Given the description of an element on the screen output the (x, y) to click on. 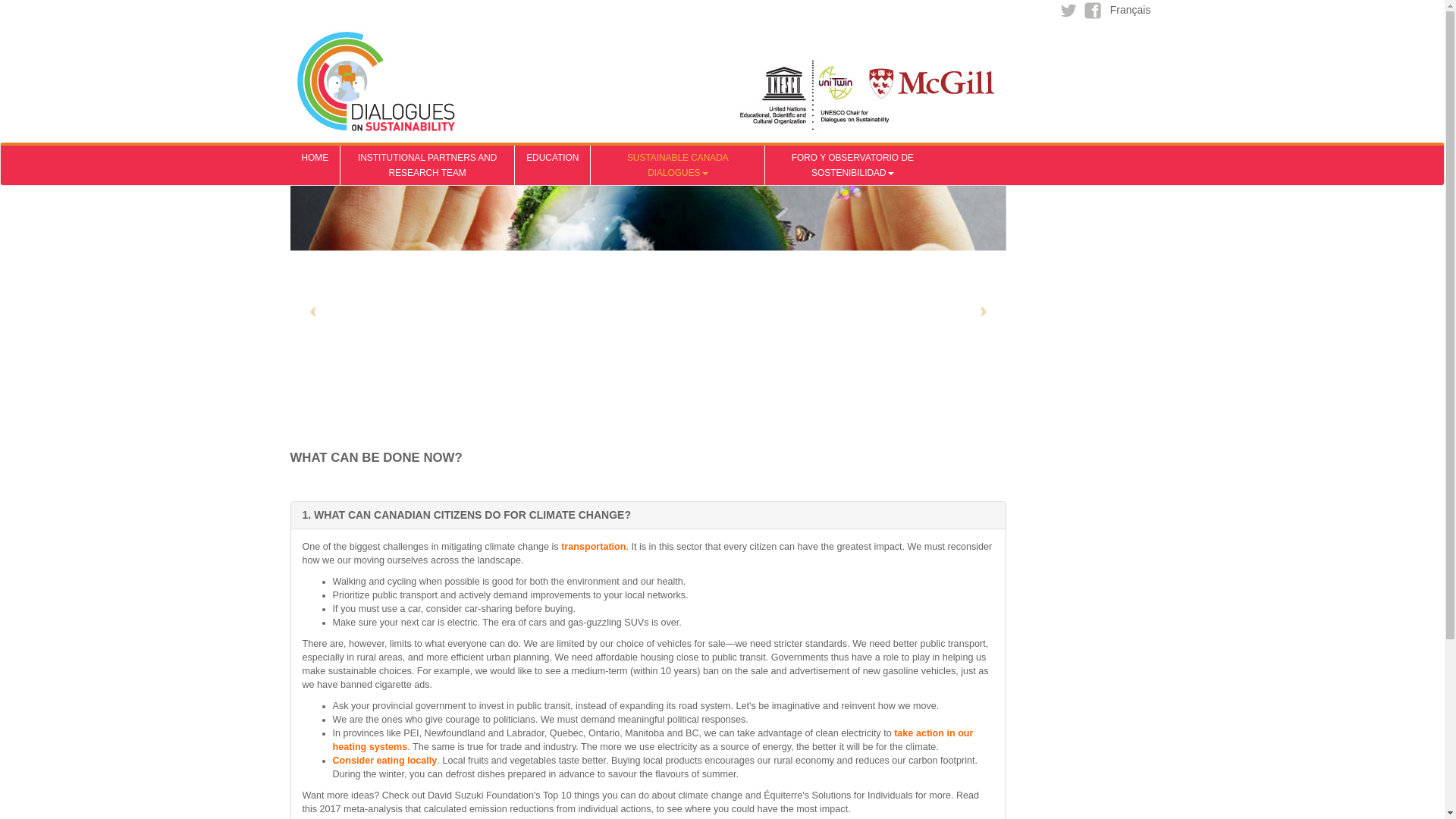
INSTITUTIONAL PARTNERS AND RESEARCH TEAM (426, 165)
1. WHAT CAN CANADIAN CITIZENS DO FOR CLIMATE CHANGE? (465, 514)
Top 10 things you can do about climate change (642, 795)
FORO Y OBSERVATORIO DE SOSTENIBILIDAD (852, 165)
Solutions for Individuals (861, 795)
SUSTAINABLE CANADA DIALOGUES (677, 165)
EDUCATION (552, 165)
2017 meta-analysis (361, 808)
HOME (314, 165)
